Given the description of an element on the screen output the (x, y) to click on. 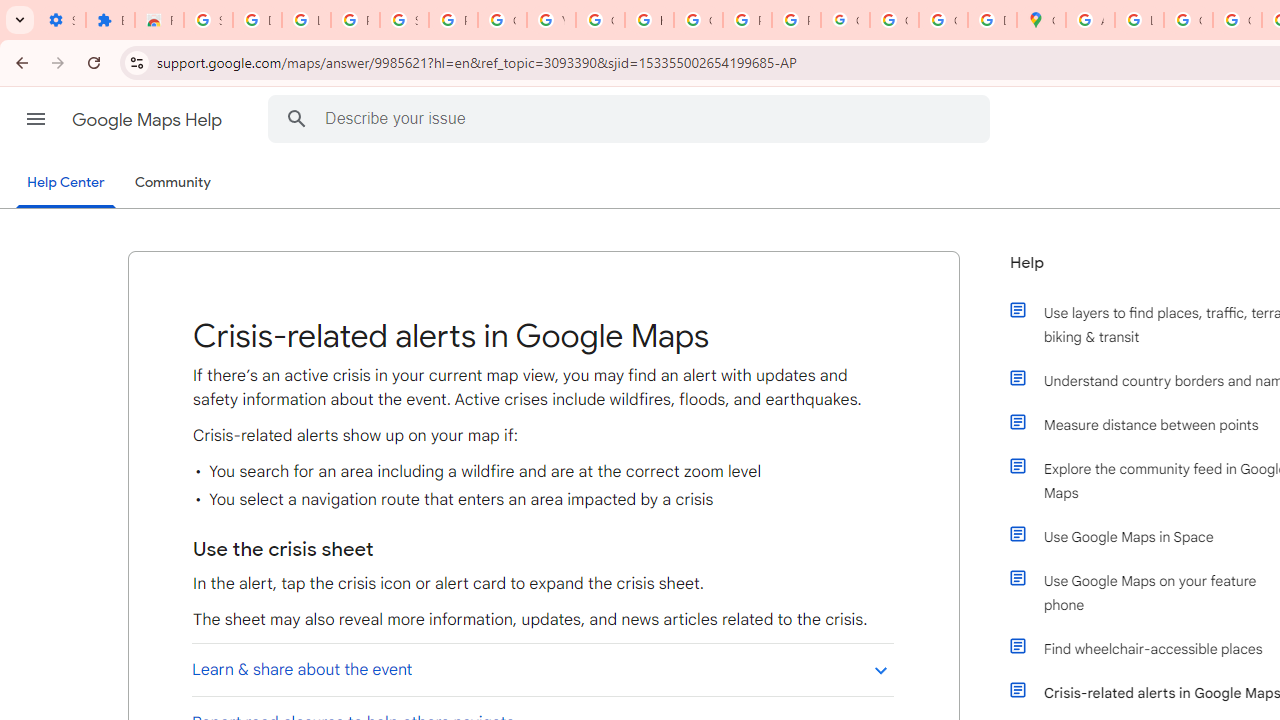
Google Account (502, 20)
YouTube (551, 20)
Learn & share about the event (542, 669)
Reviews: Helix Fruit Jump Arcade Game (159, 20)
Google Maps (1041, 20)
https://scholar.google.com/ (649, 20)
